Given the description of an element on the screen output the (x, y) to click on. 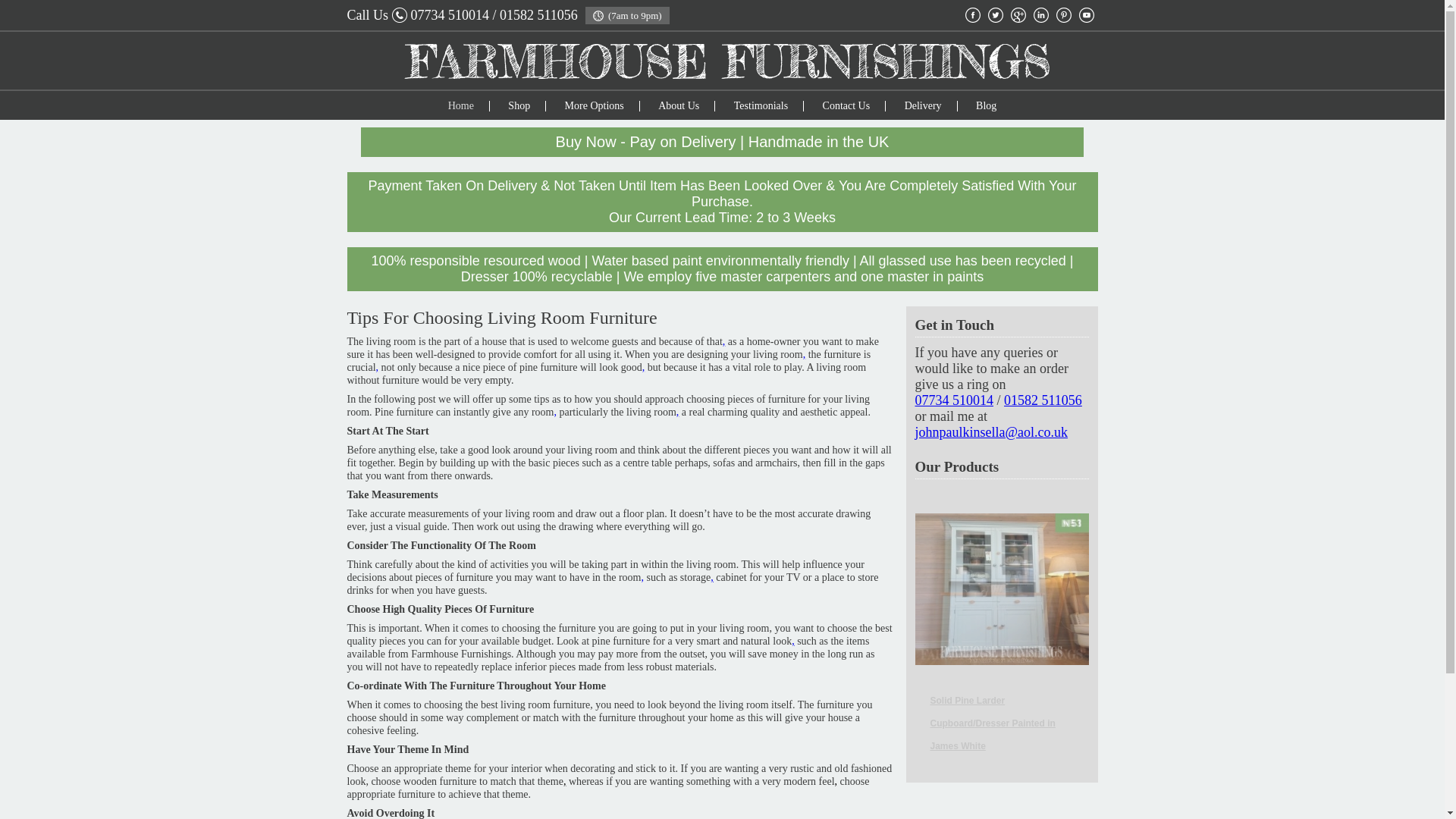
Shop (518, 105)
07734 510014 (449, 14)
01582 511056 (538, 14)
Blog (985, 105)
Contact Us (846, 105)
More Options (594, 105)
Delivery (923, 105)
Testimonials (760, 105)
Delivery (923, 105)
Testimonials (760, 105)
About Us (678, 105)
Home (461, 105)
Home (461, 105)
About Us (678, 105)
Contact Us (846, 105)
